Given the description of an element on the screen output the (x, y) to click on. 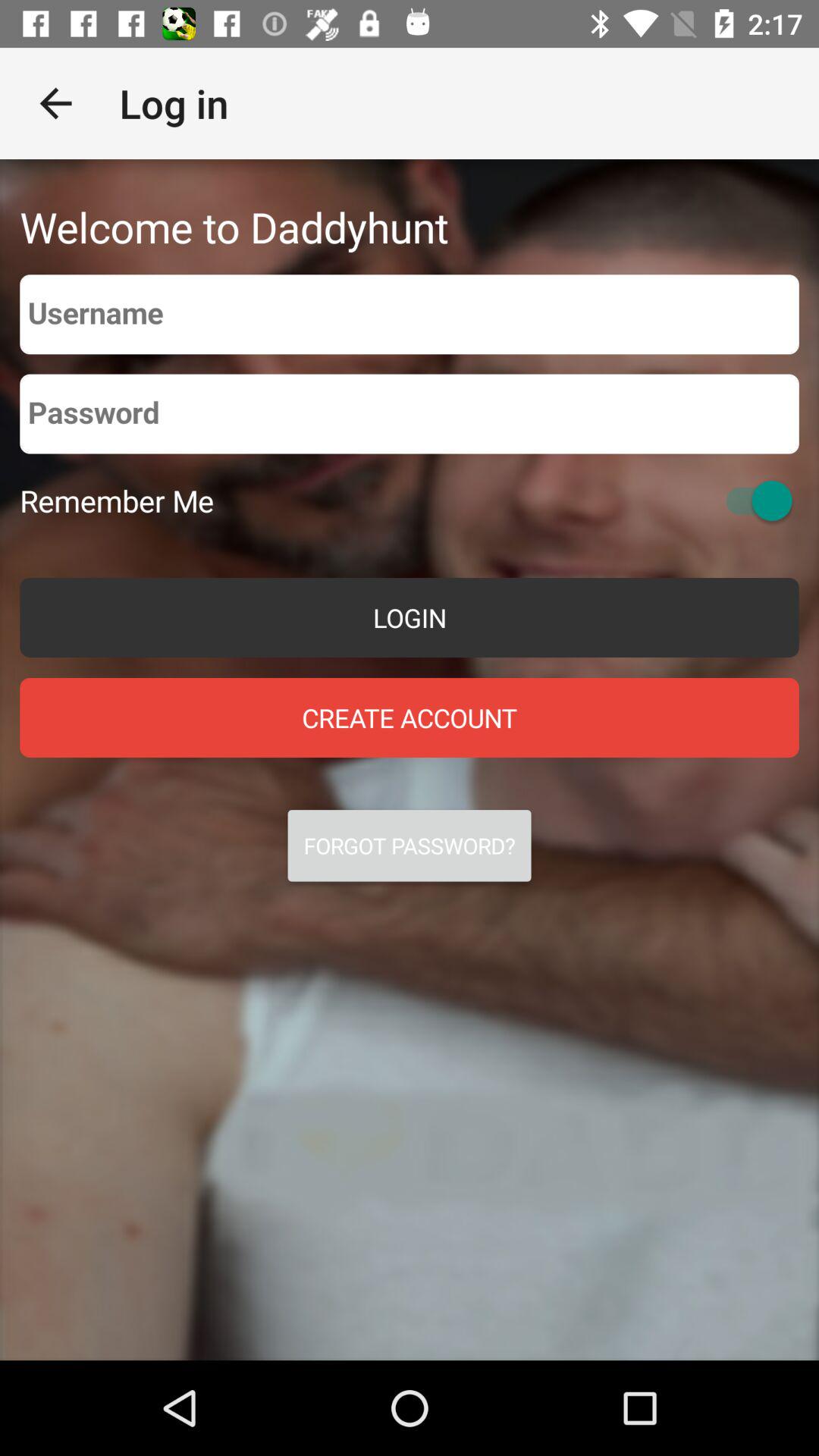
type in your username (409, 314)
